Given the description of an element on the screen output the (x, y) to click on. 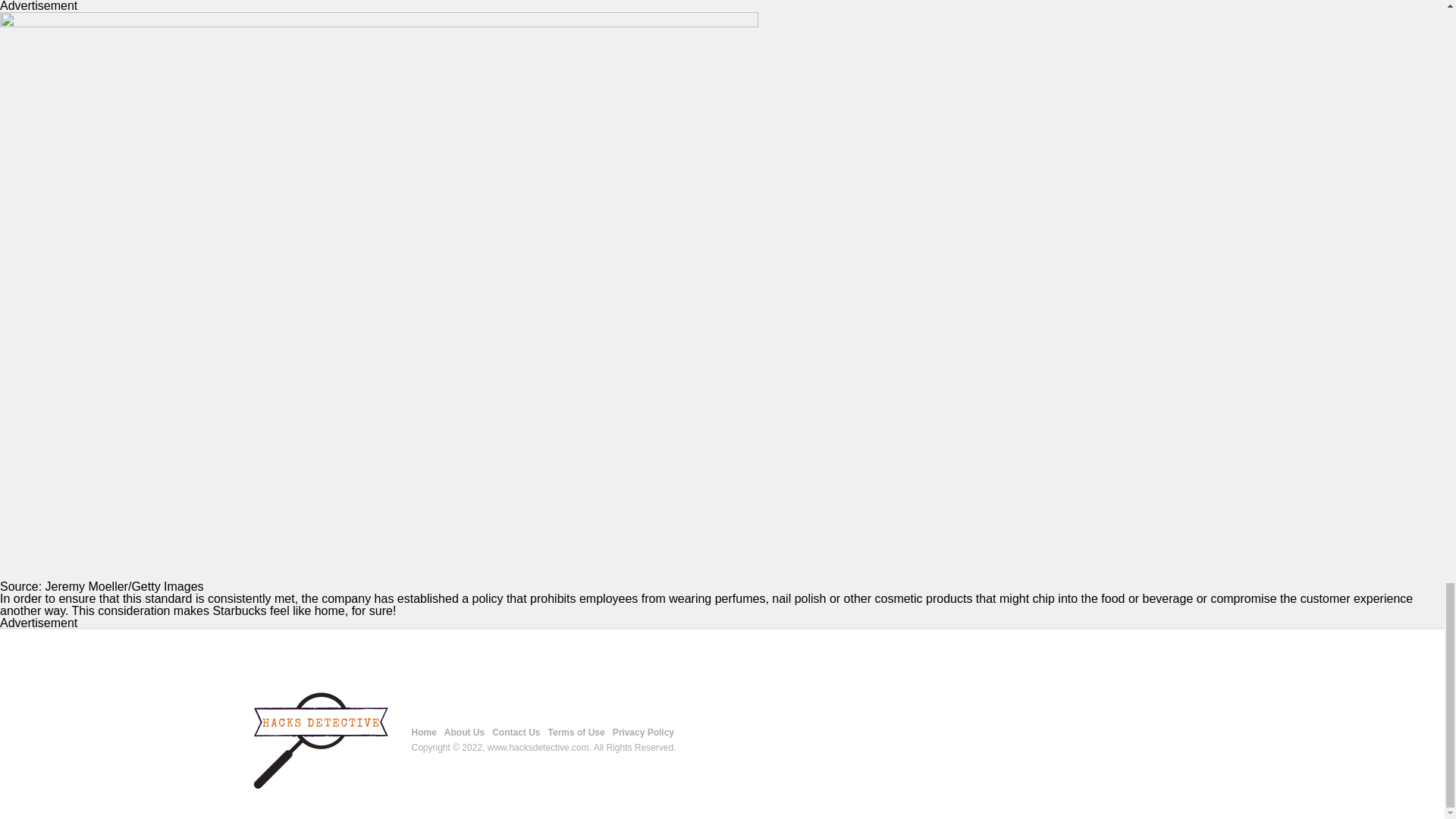
Home (422, 732)
Terms of Use (576, 732)
Contact Us (516, 732)
About Us (464, 732)
Privacy Policy (643, 732)
